Given the description of an element on the screen output the (x, y) to click on. 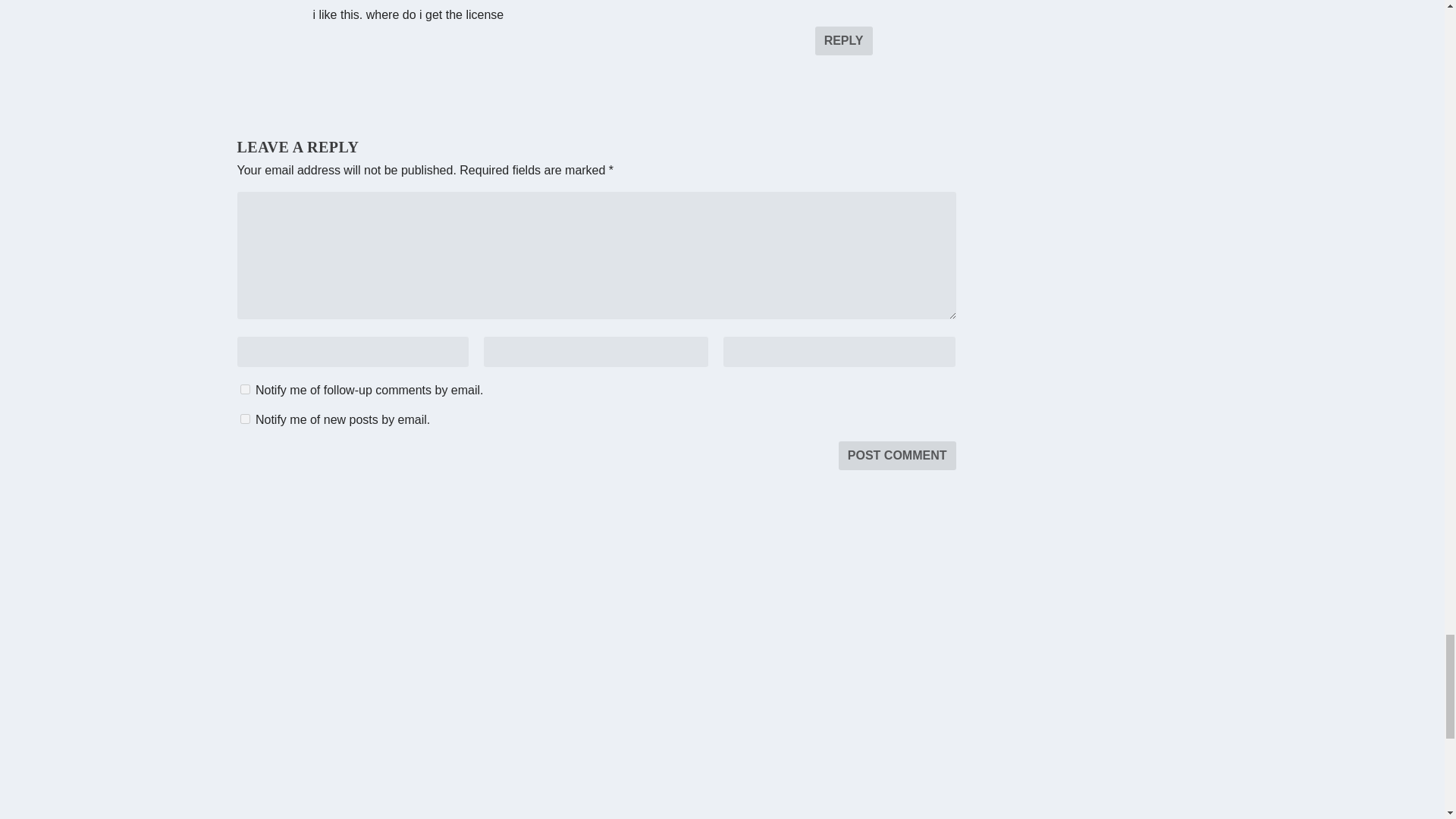
subscribe (244, 388)
Post Comment (897, 455)
subscribe (244, 419)
